Given the description of an element on the screen output the (x, y) to click on. 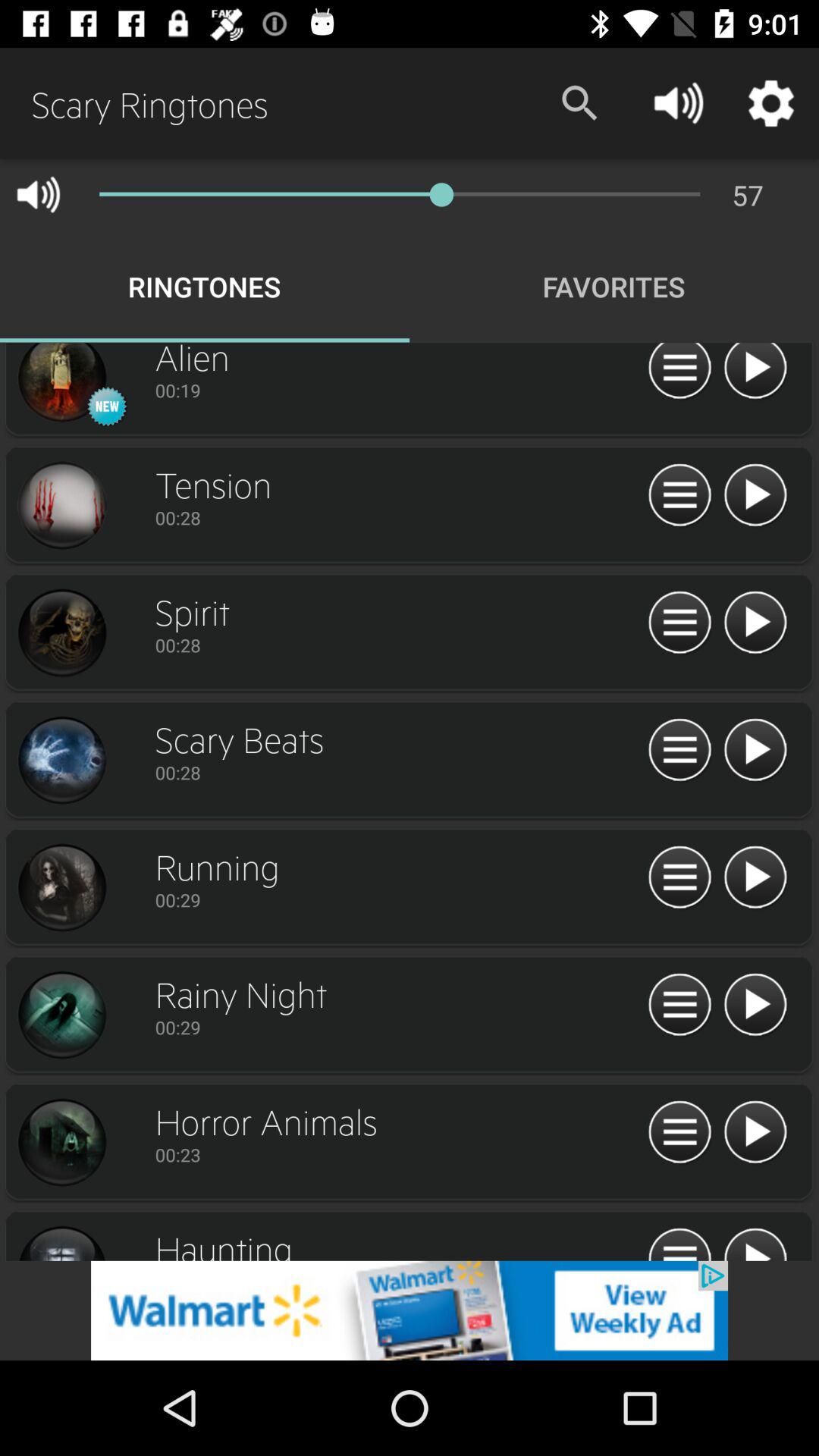
play (755, 1132)
